Given the description of an element on the screen output the (x, y) to click on. 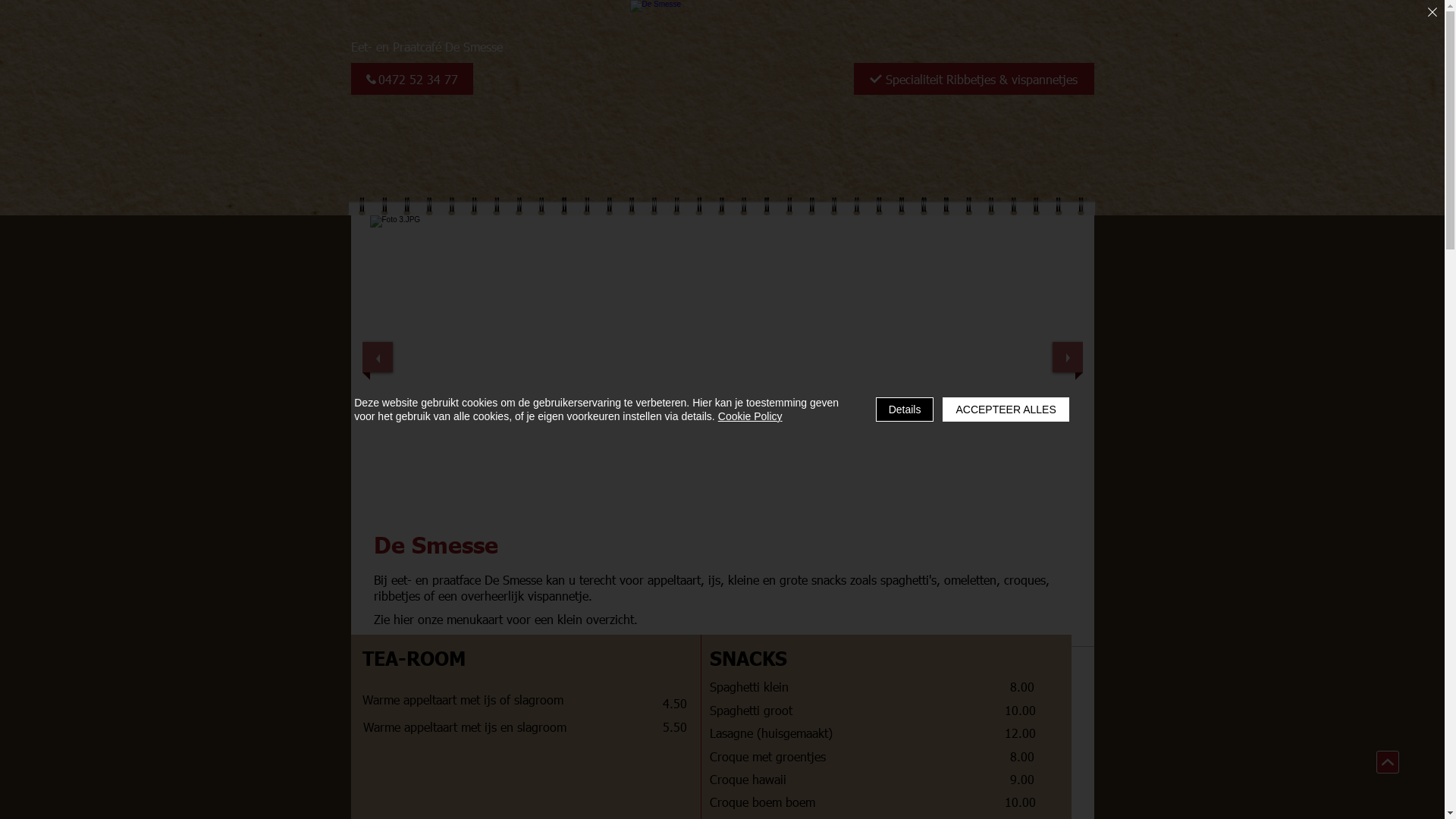
ACCEPTEER ALLES Element type: text (1005, 409)
Cookie Policy Element type: text (750, 416)
0472 52 34 77 Element type: text (411, 78)
Specialiteit Ribbetjes & vispannetjes Element type: text (973, 78)
Details Element type: text (904, 409)
